Given the description of an element on the screen output the (x, y) to click on. 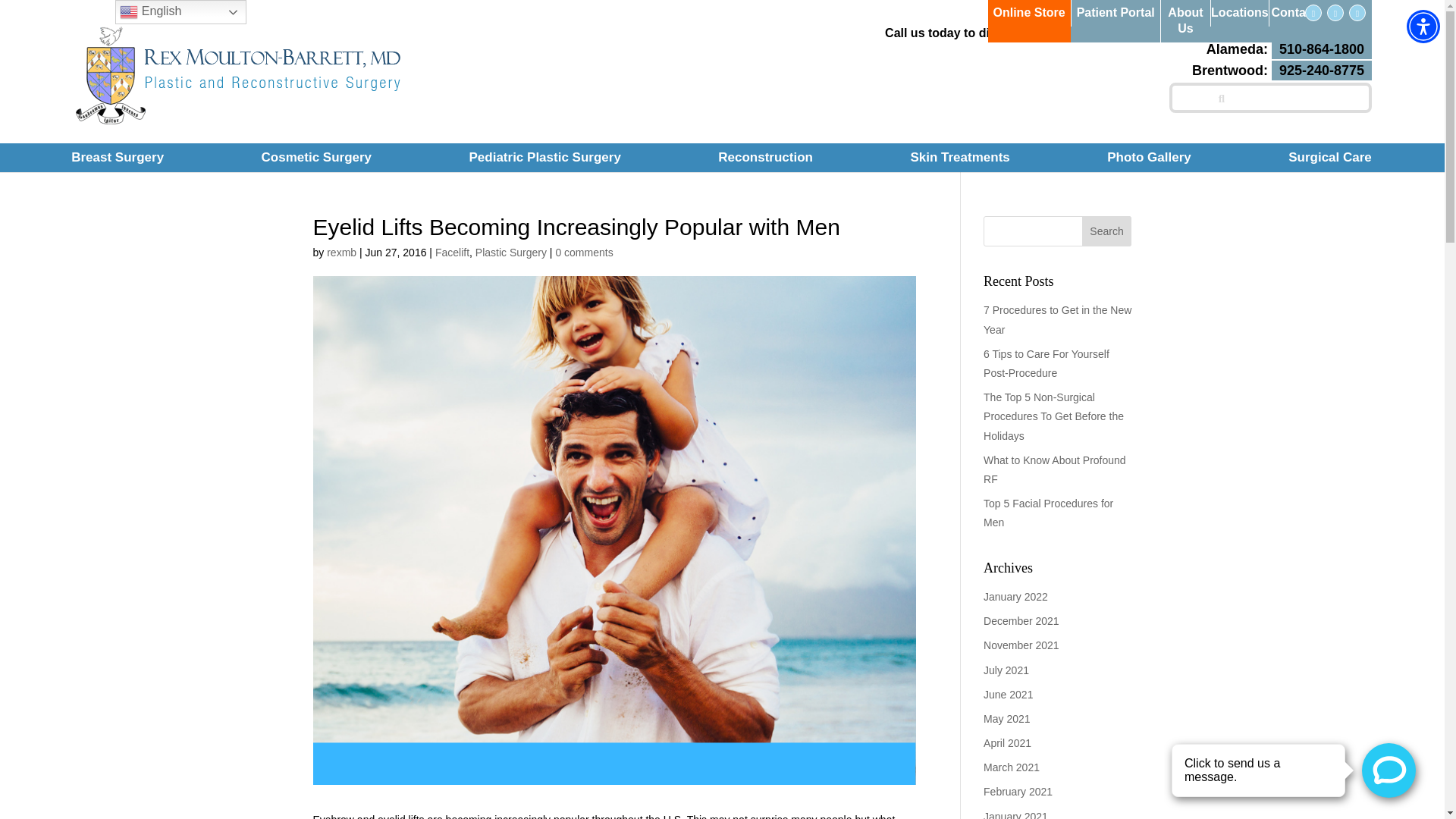
Brentwood: 925-240-8775 (1179, 21)
Search (1281, 69)
Breast Surgery (1106, 231)
Posts by rexmb (117, 157)
Contact (341, 252)
Accessibility Menu (1293, 13)
Search (1422, 26)
Patient Portal (21, 7)
book-gke1-west3-wsf-prod-1-wstack (1115, 13)
Online Store (1296, 771)
Locations (1028, 13)
Alameda: 510-864-1800 (1238, 13)
About Us (1289, 49)
